Given the description of an element on the screen output the (x, y) to click on. 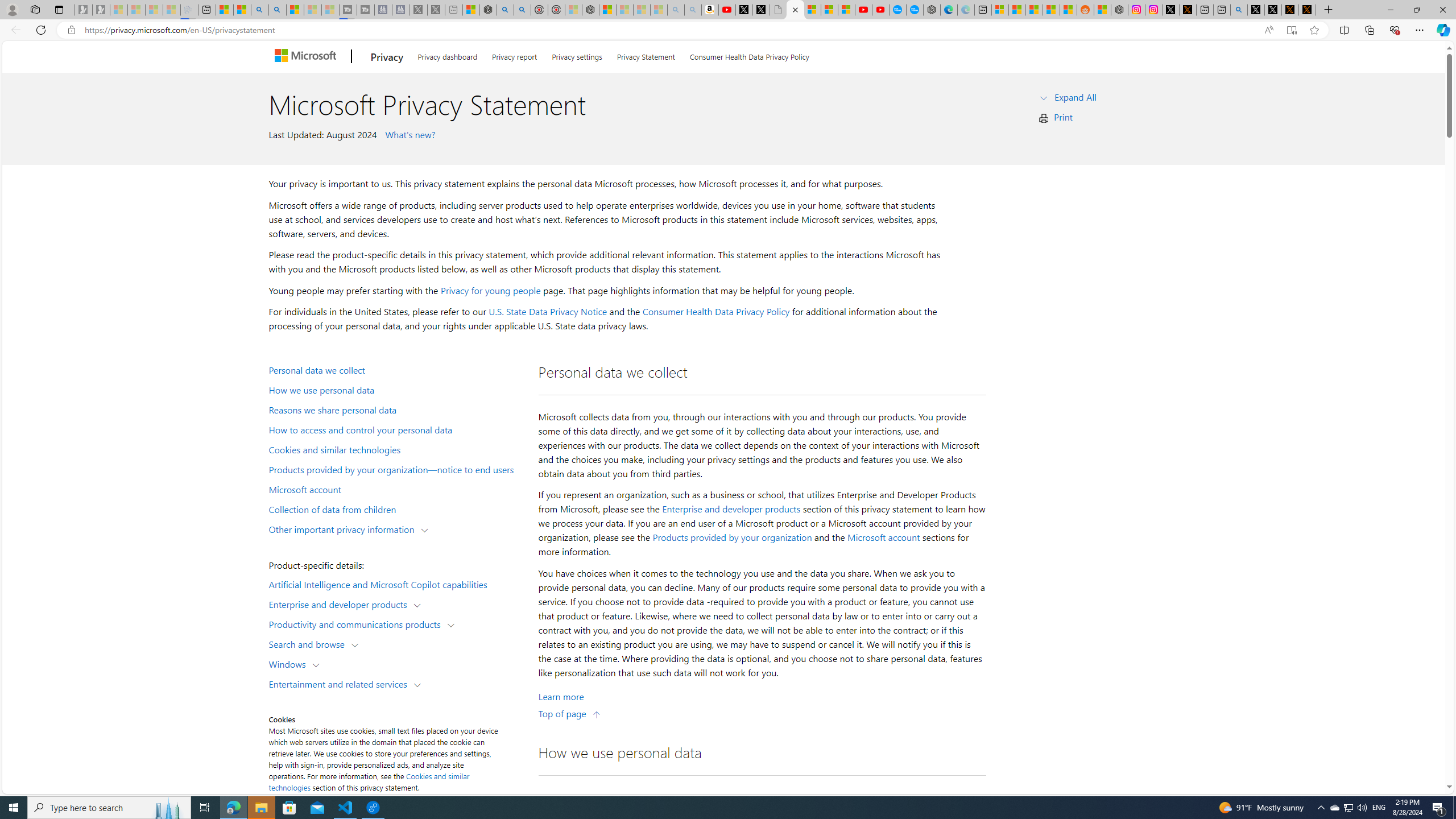
Enterprise and developer products (340, 603)
Profile / X (1256, 9)
Privacy dashboard (447, 54)
Microsoft account (883, 537)
